Given the description of an element on the screen output the (x, y) to click on. 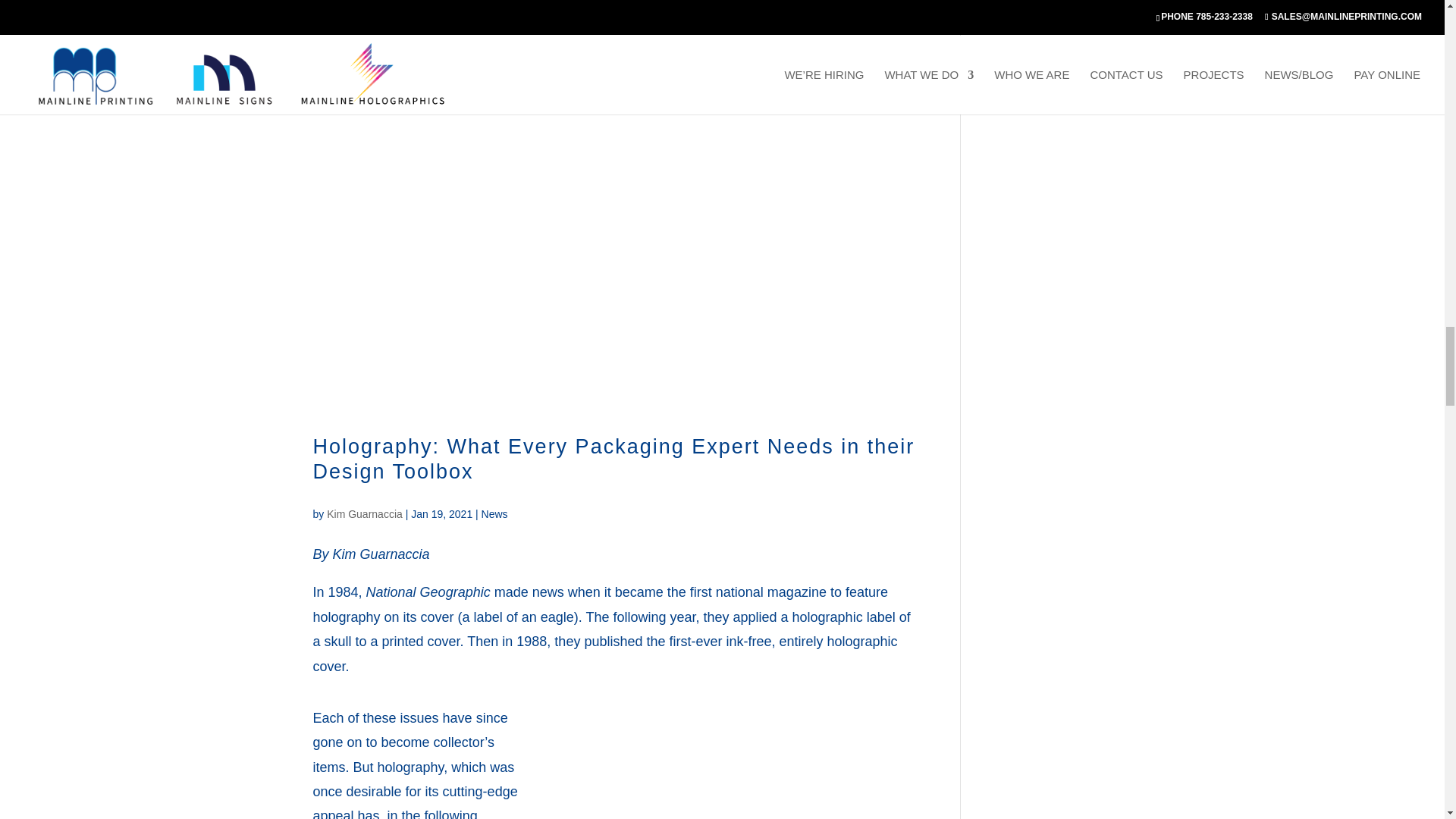
Posts by Kim Guarnaccia (364, 513)
